Given the description of an element on the screen output the (x, y) to click on. 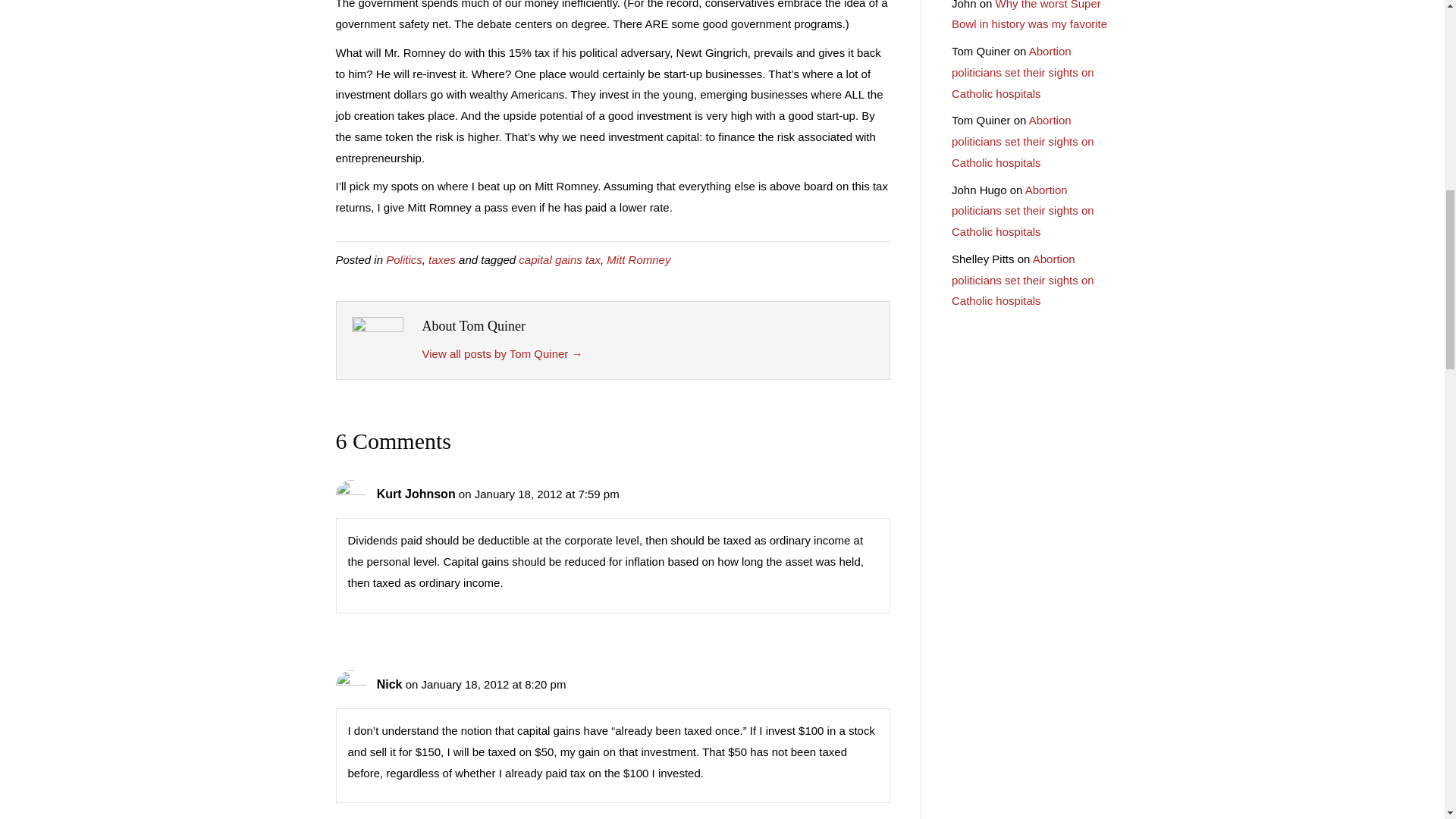
Why the worst Super Bowl in history was my favorite (1029, 15)
capital gains tax (558, 259)
taxes (441, 259)
Abortion politicians set their sights on Catholic hospitals (1023, 140)
Politics (403, 259)
Mitt Romney (638, 259)
Abortion politicians set their sights on Catholic hospitals (1023, 72)
Abortion politicians set their sights on Catholic hospitals (1023, 279)
Abortion politicians set their sights on Catholic hospitals (1023, 211)
